Given the description of an element on the screen output the (x, y) to click on. 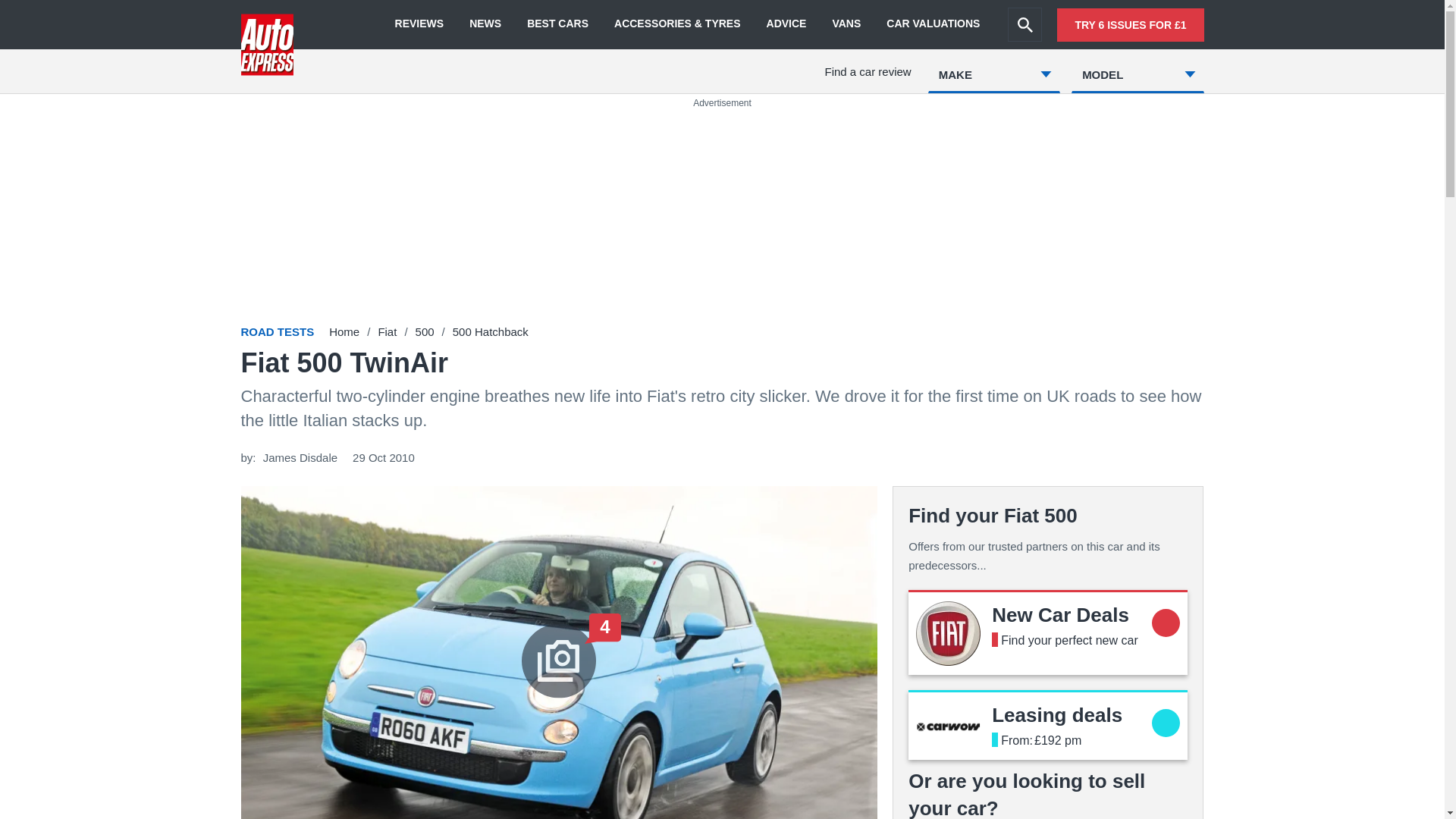
CAR VALUATIONS (932, 24)
BEST CARS (1056, 714)
ADVICE (557, 24)
REVIEWS (786, 24)
500 Hatchback (419, 24)
VANS (490, 331)
500 (845, 24)
Home (423, 331)
NEWS (1060, 614)
Search (344, 331)
4 (485, 24)
Search (1024, 24)
